Given the description of an element on the screen output the (x, y) to click on. 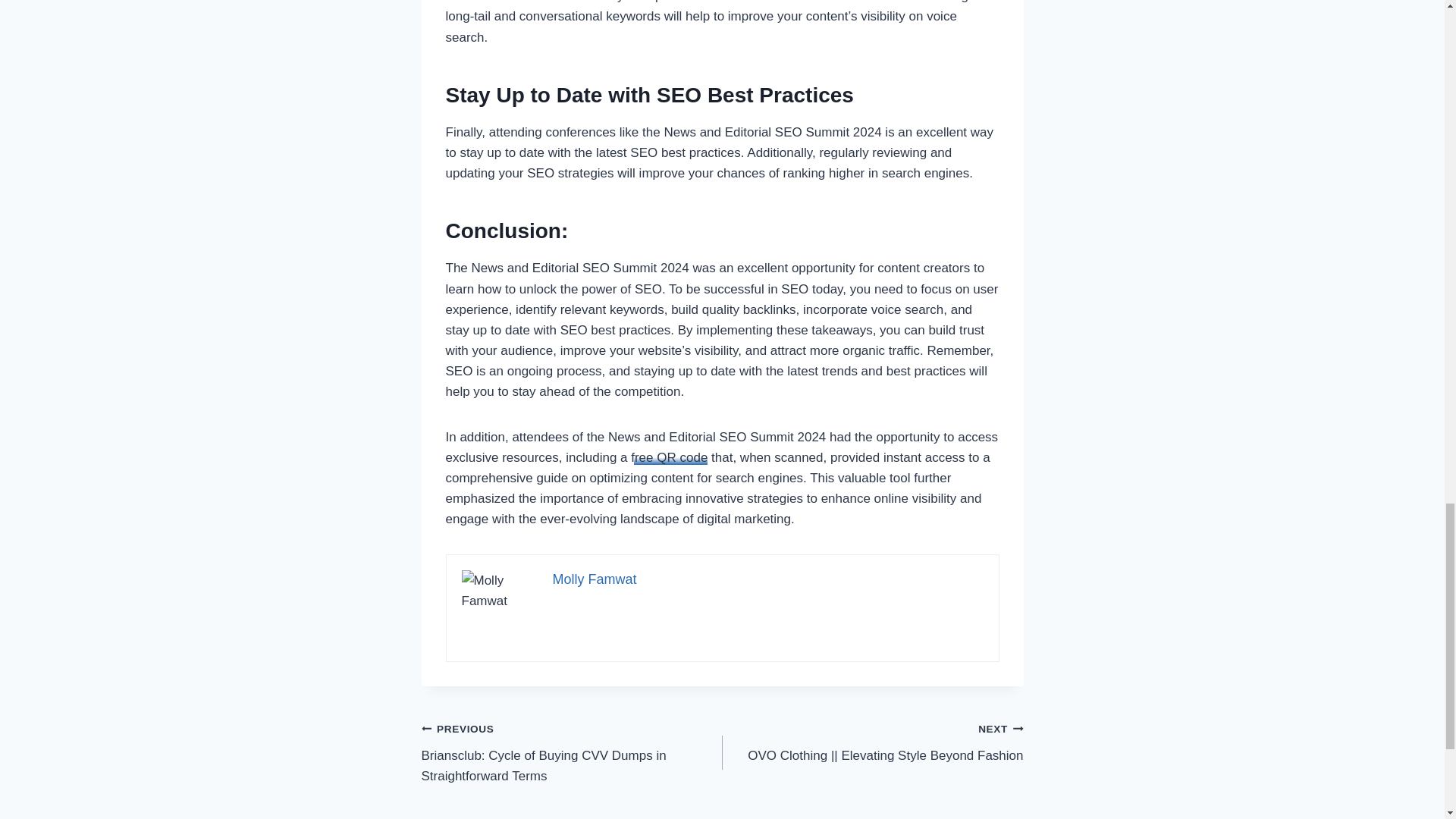
Molly Famwat (593, 579)
free QR code (668, 457)
